Given the description of an element on the screen output the (x, y) to click on. 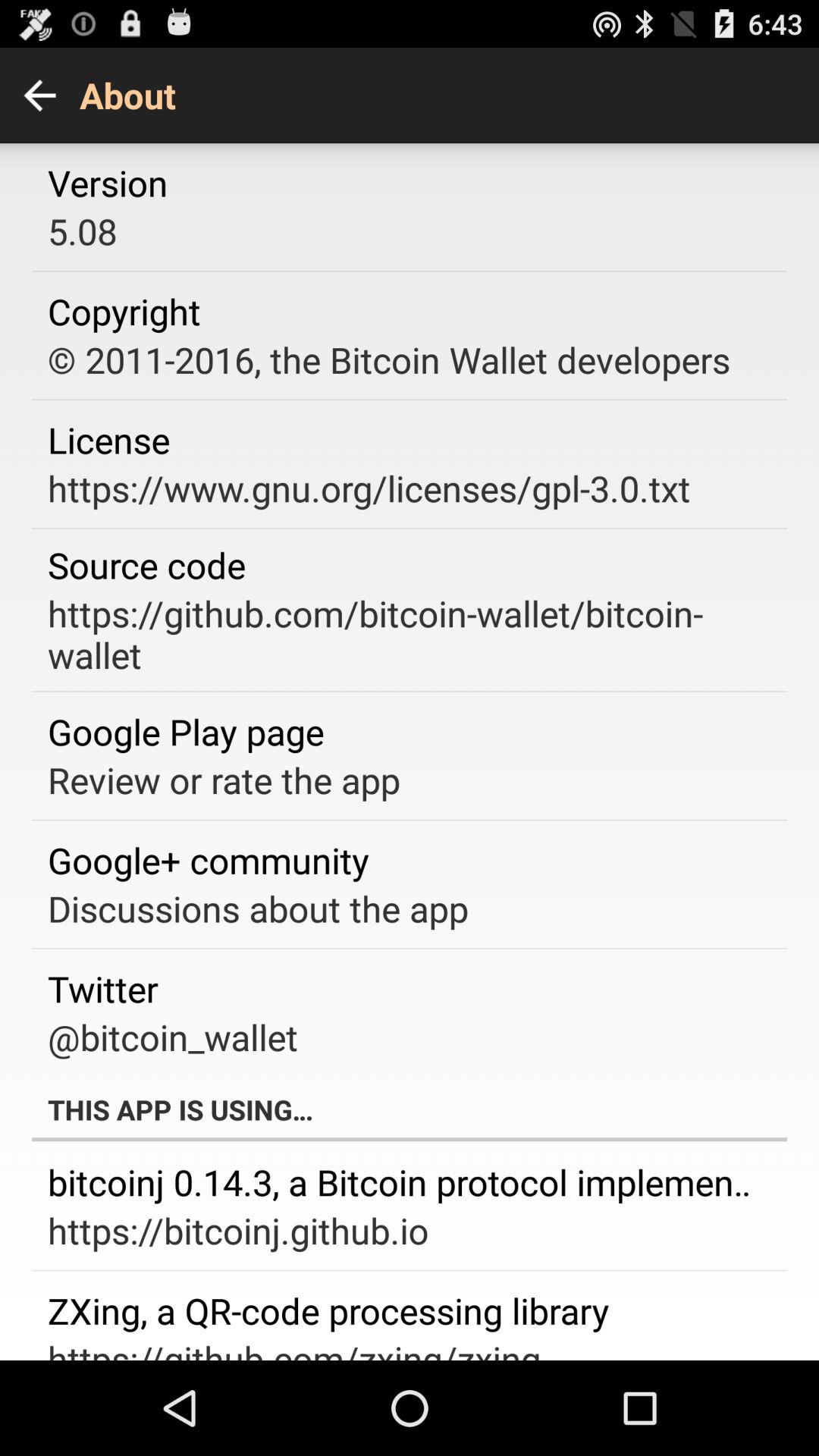
tap the app below the https www gnu (146, 564)
